Given the description of an element on the screen output the (x, y) to click on. 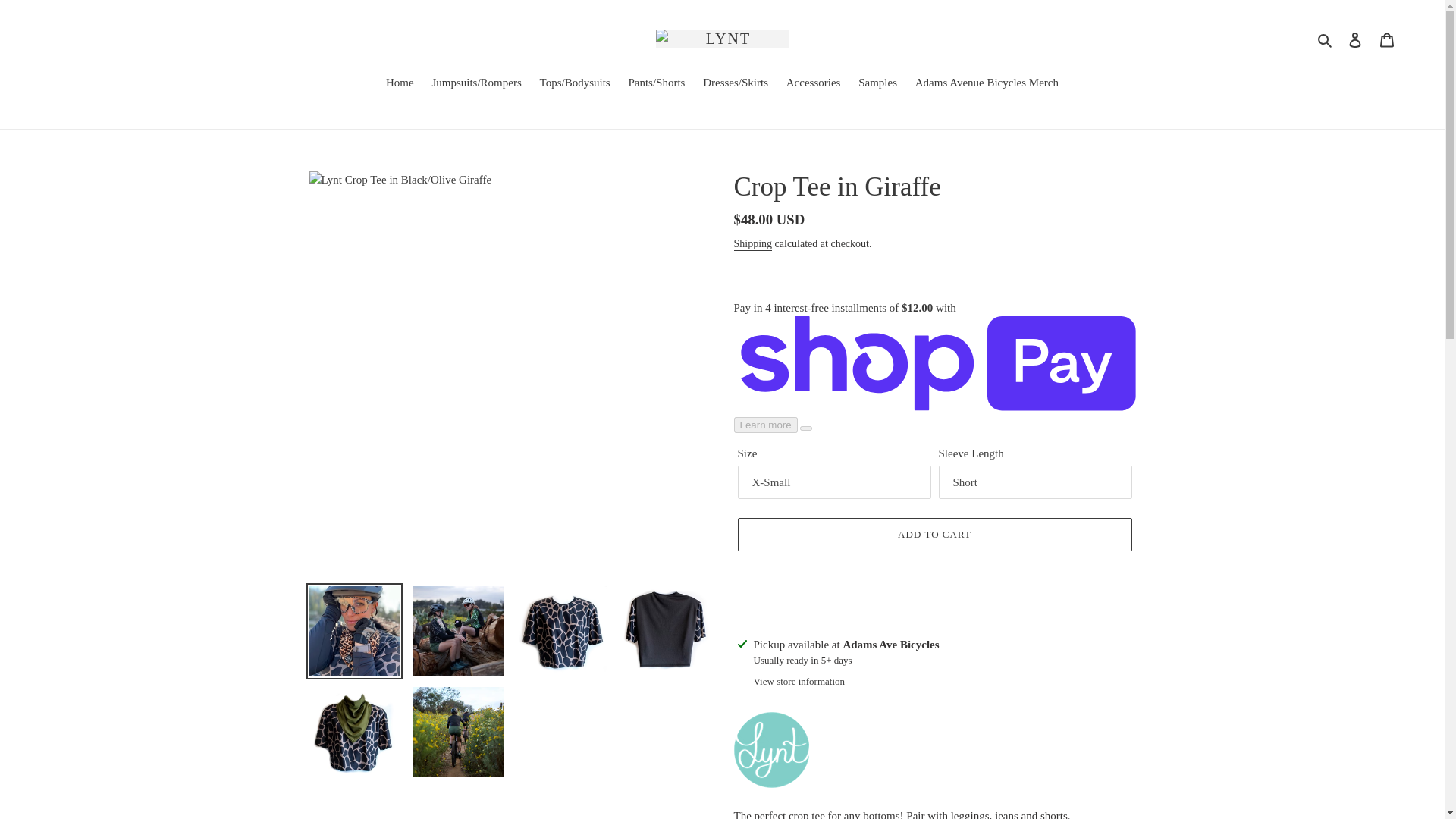
View store information (799, 681)
Log in (1355, 38)
Adams Avenue Bicycles Merch (986, 84)
Search (1326, 38)
Samples (877, 84)
Accessories (813, 84)
Shipping (753, 244)
ADD TO CART (933, 534)
Home (400, 84)
Cart (1387, 38)
